Given the description of an element on the screen output the (x, y) to click on. 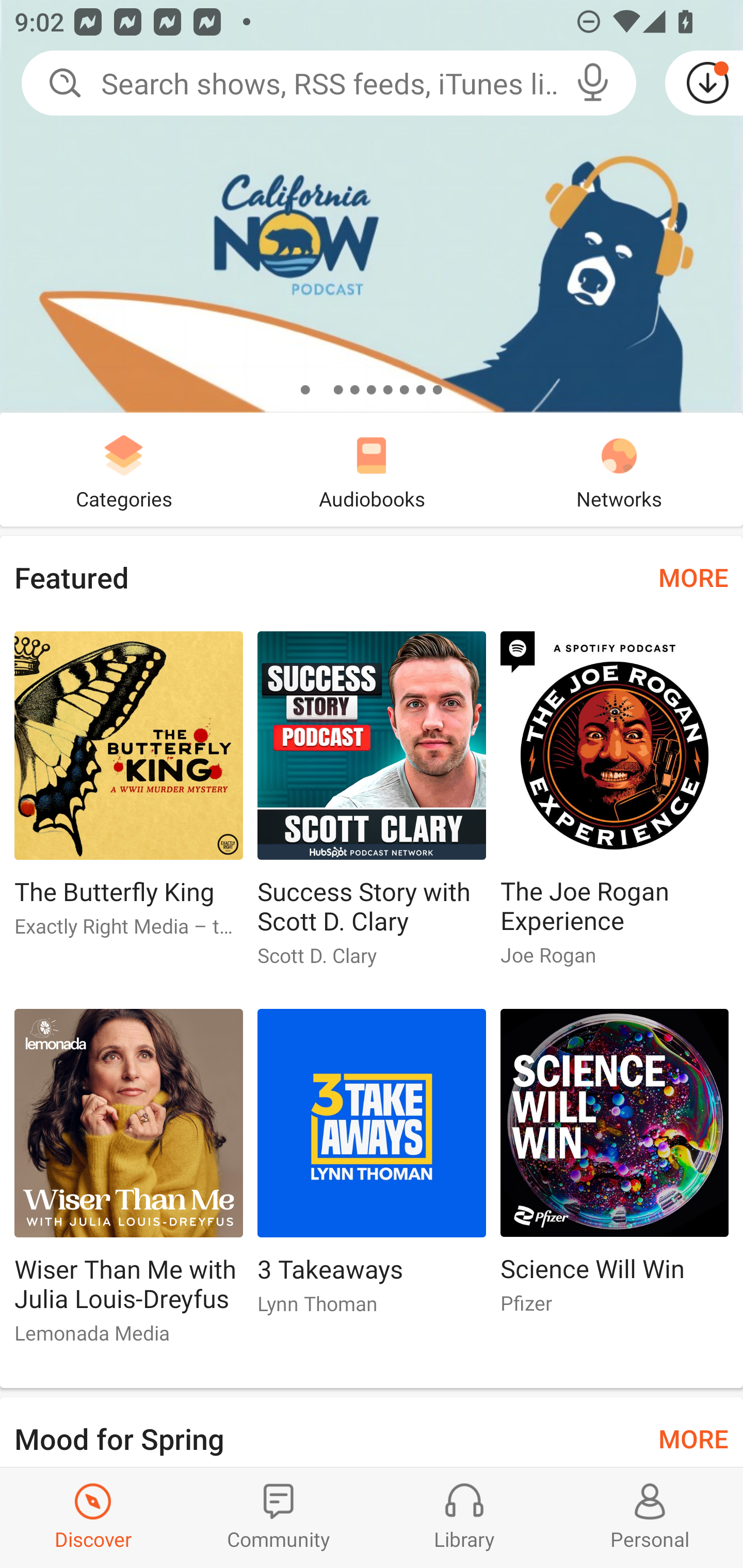
California Now Podcast (371, 206)
Categories (123, 469)
Audiobooks (371, 469)
Networks (619, 469)
MORE (693, 576)
3 Takeaways 3 Takeaways Lynn Thoman (371, 1169)
Science Will Win Science Will Win Pfizer (614, 1169)
MORE (693, 1436)
Discover (92, 1517)
Community (278, 1517)
Library (464, 1517)
Profiles and Settings Personal (650, 1517)
